Given the description of an element on the screen output the (x, y) to click on. 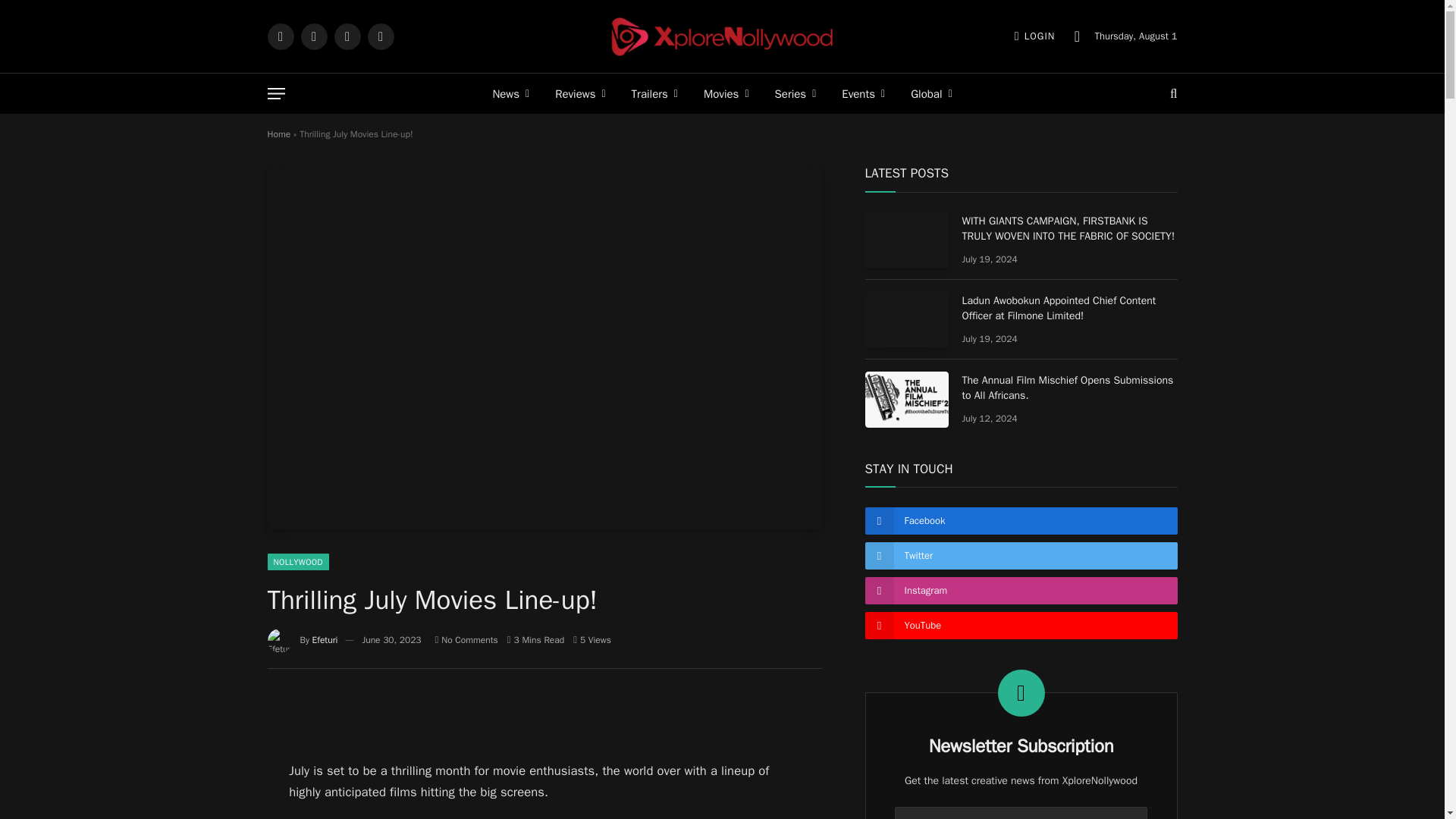
Switch to Light Design. (1077, 36)
XploreNollywood (721, 36)
